Given the description of an element on the screen output the (x, y) to click on. 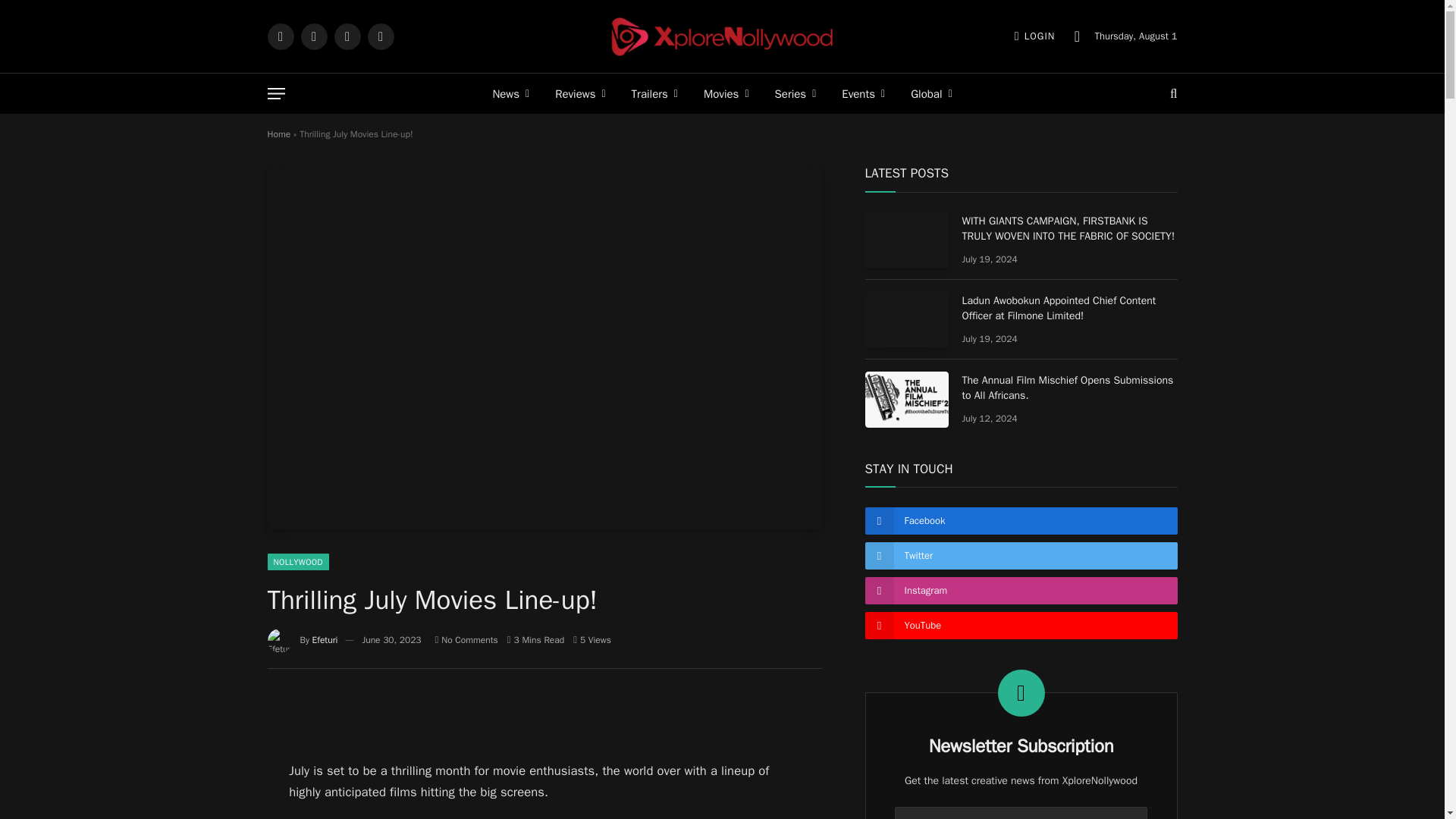
Switch to Light Design. (1077, 36)
XploreNollywood (721, 36)
